Given the description of an element on the screen output the (x, y) to click on. 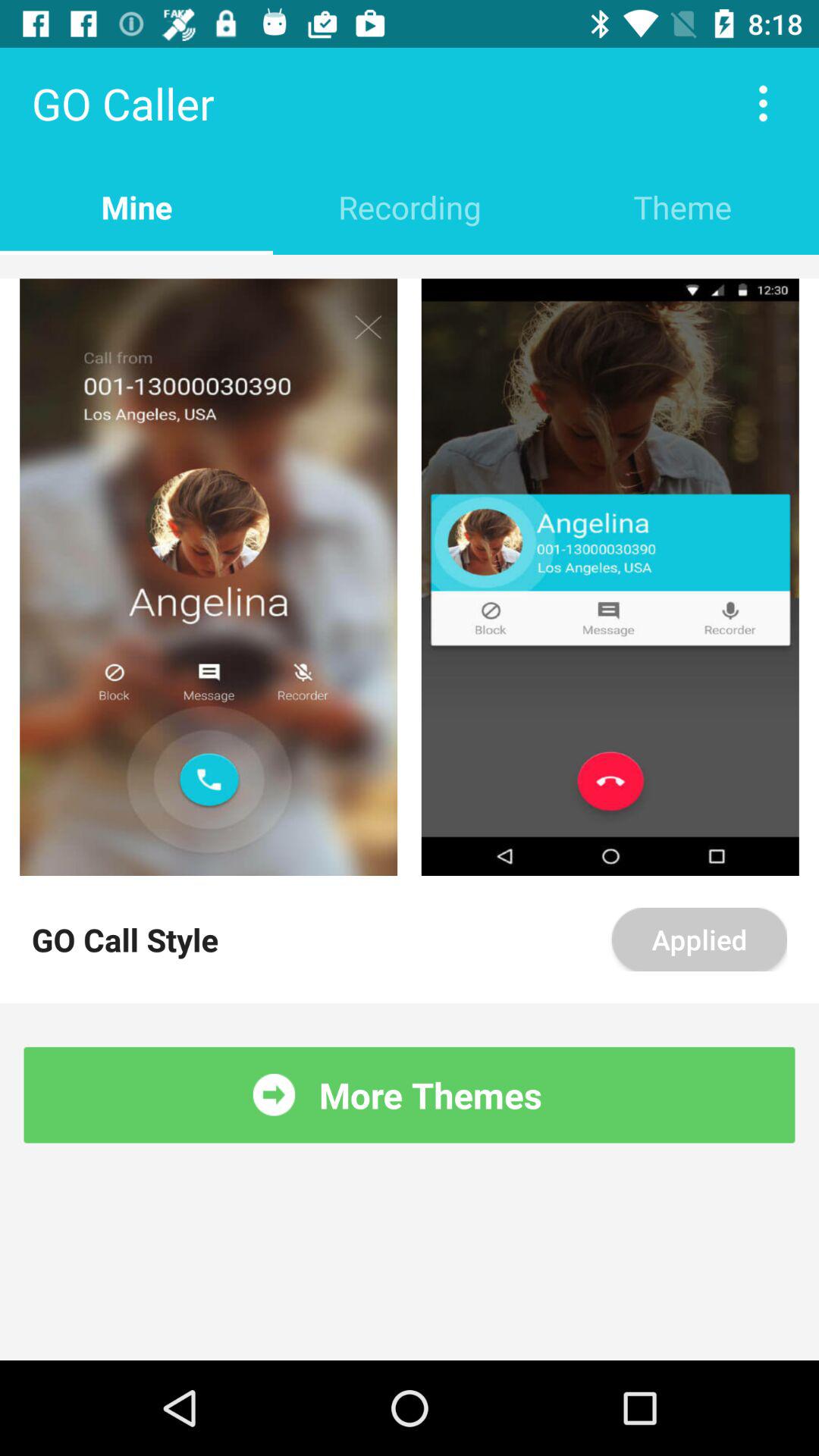
scroll until go call style item (124, 939)
